Given the description of an element on the screen output the (x, y) to click on. 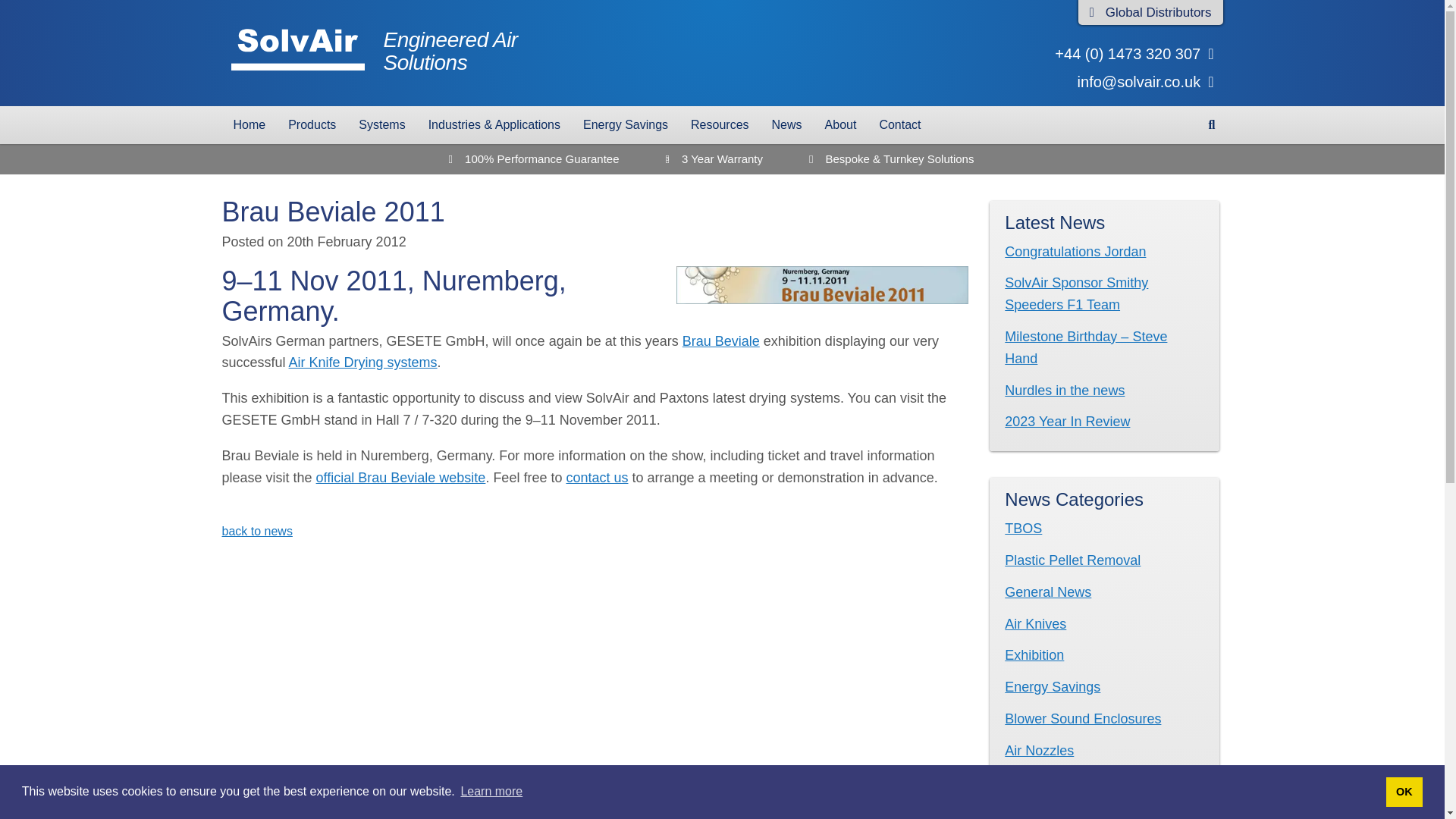
Home (373, 53)
OK (373, 53)
Products (1404, 791)
Home (311, 125)
Global Distributors (248, 125)
Learn more (1150, 12)
